Given the description of an element on the screen output the (x, y) to click on. 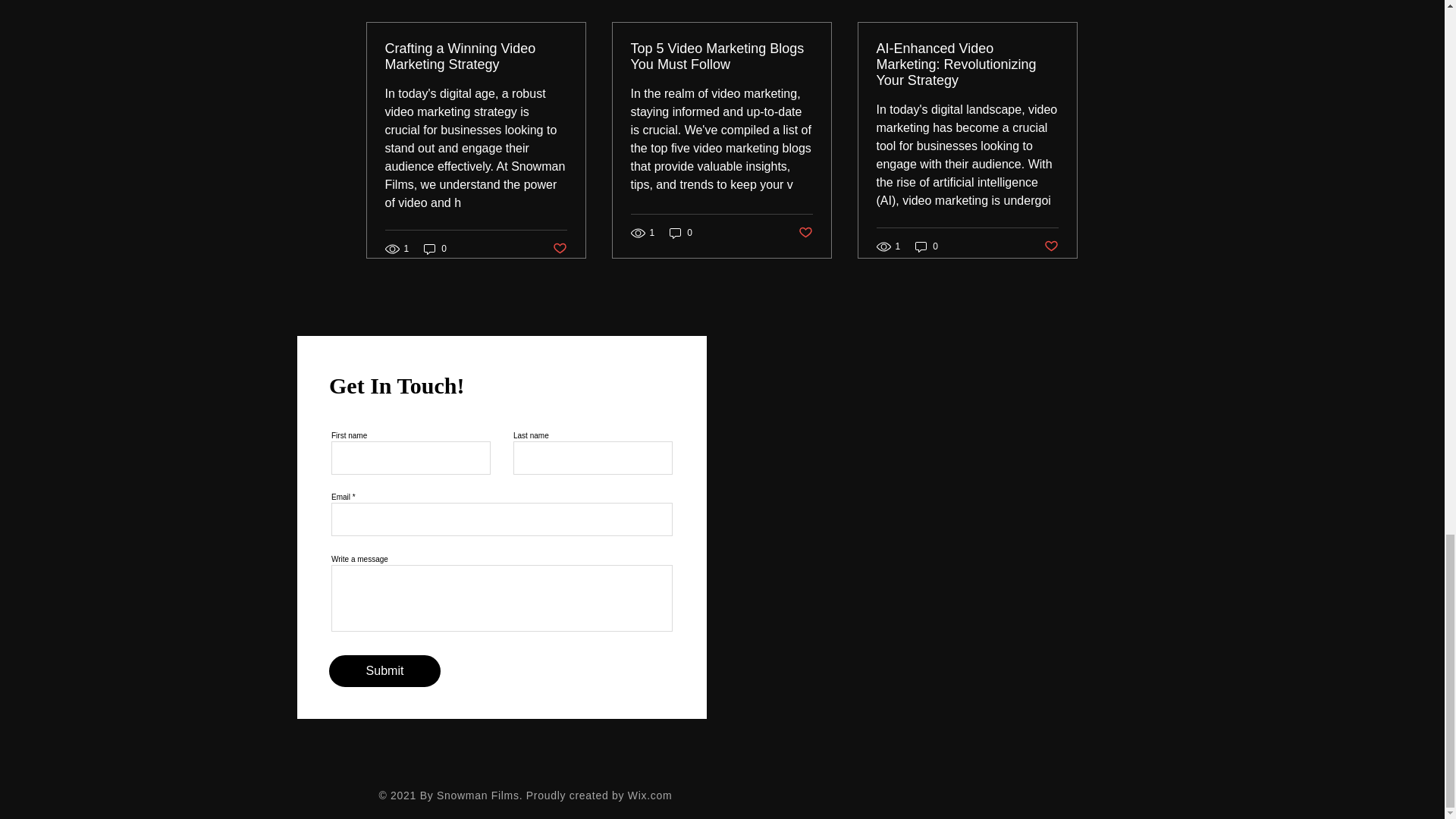
Submit (385, 671)
Post not marked as liked (558, 248)
Crafting a Winning Video Marketing Strategy (476, 56)
0 (926, 246)
See All (1061, 3)
0 (681, 232)
Post not marked as liked (804, 232)
Post not marked as liked (1050, 246)
AI-Enhanced Video Marketing: Revolutionizing Your Strategy (967, 64)
Top 5 Video Marketing Blogs You Must Follow (721, 56)
